Given the description of an element on the screen output the (x, y) to click on. 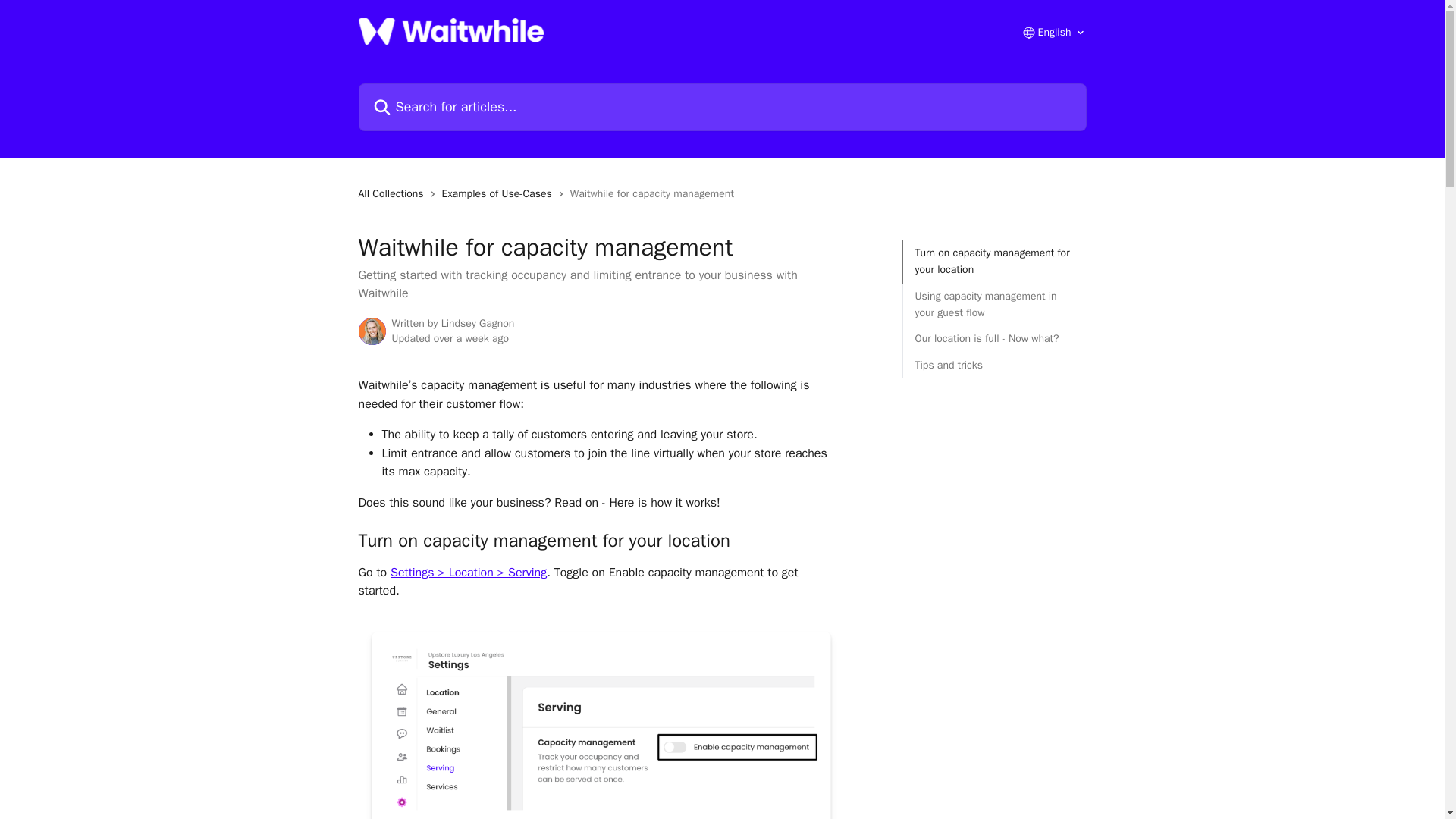
Tips and tricks (994, 365)
Our location is full - Now what? (994, 338)
Using capacity management in your guest flow (994, 305)
Examples of Use-Cases (499, 193)
All Collections (393, 193)
Turn on capacity management for your location (994, 261)
